Given the description of an element on the screen output the (x, y) to click on. 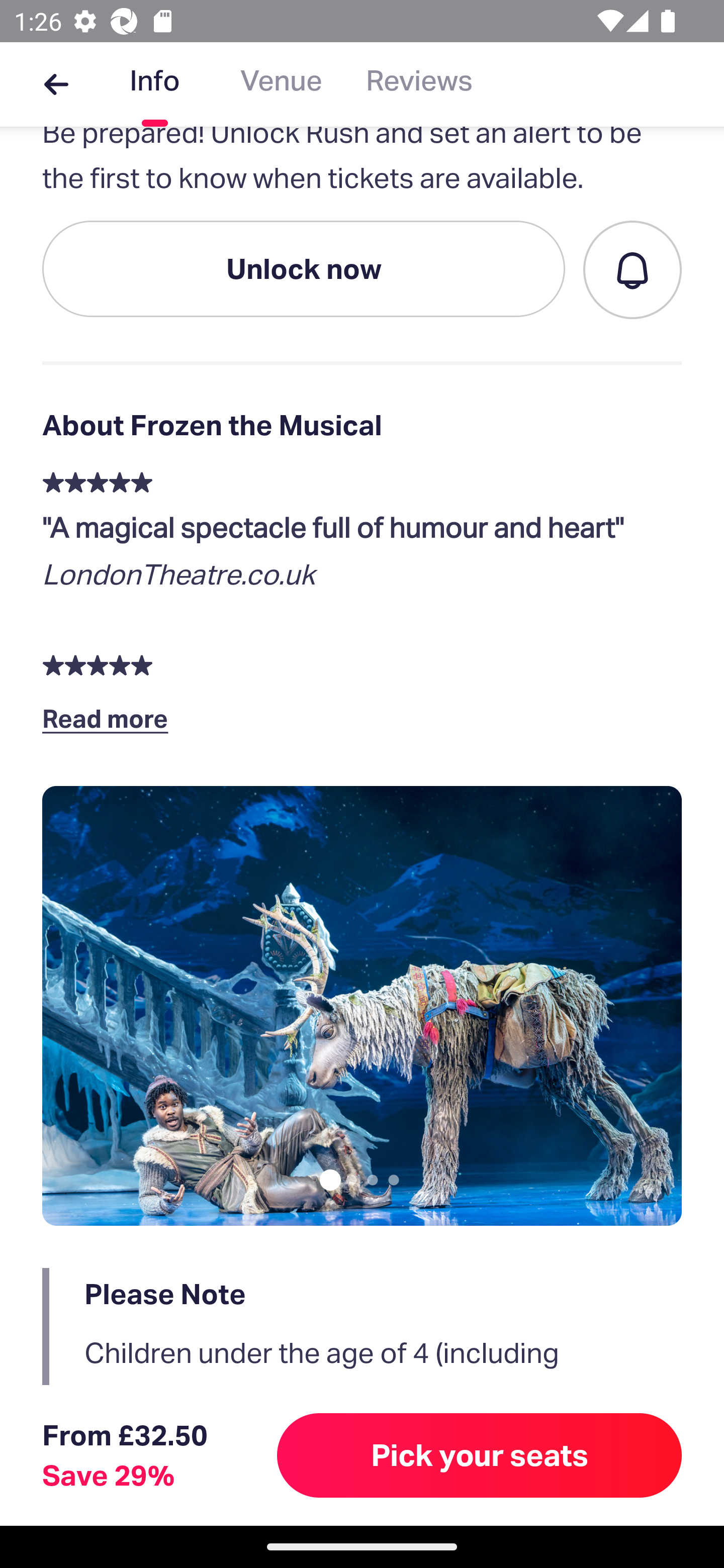
Venue (280, 84)
Reviews (419, 84)
Unlock now (303, 268)
About Frozen the Musical (361, 425)
Read more (109, 718)
Pick your seats (479, 1454)
